Given the description of an element on the screen output the (x, y) to click on. 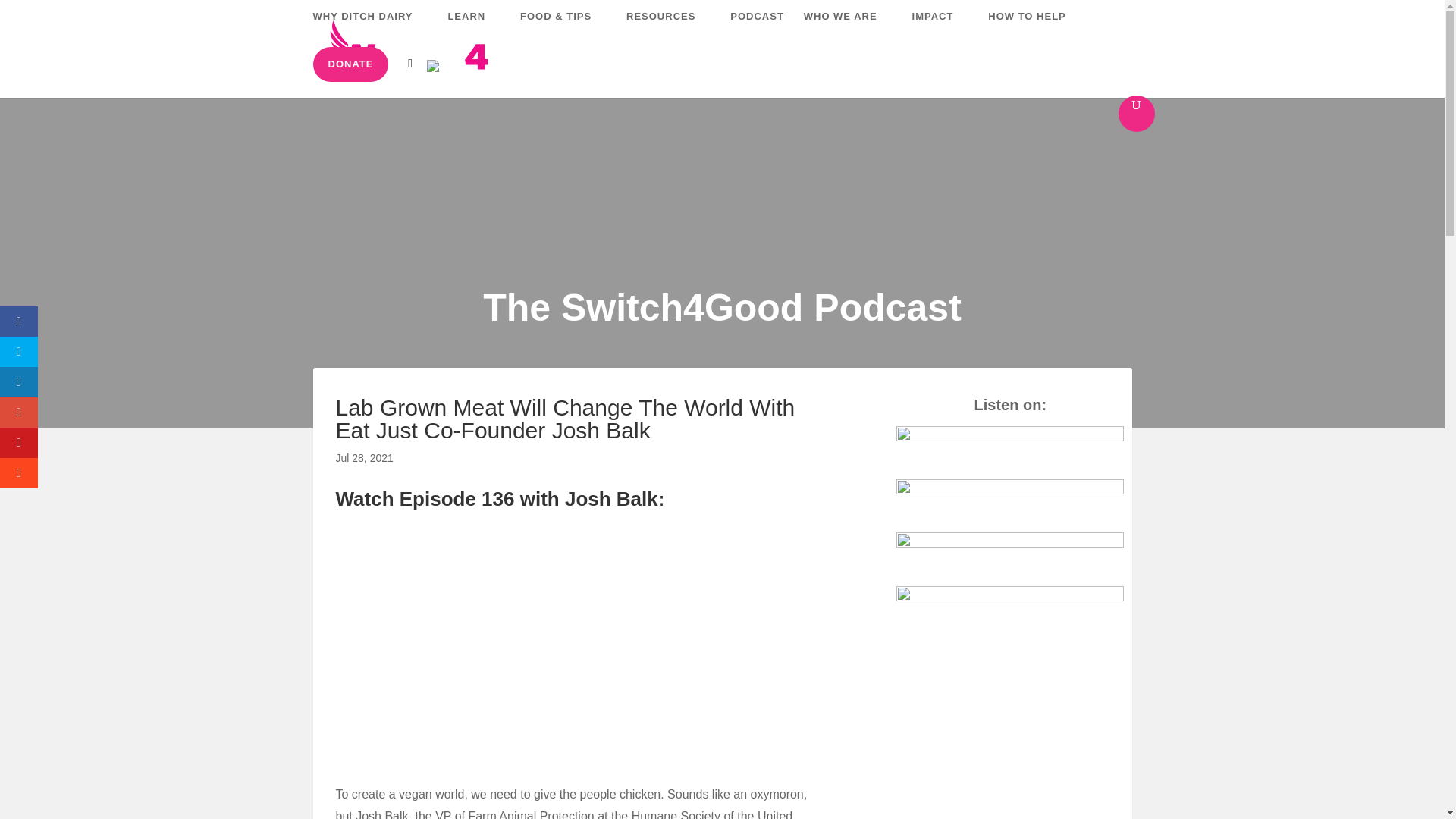
RESOURCES (668, 28)
WHO WE ARE (847, 28)
PODCAST (757, 28)
LEARN (473, 28)
WHY DITCH DAIRY (370, 28)
YouTube video player (547, 644)
